Given the description of an element on the screen output the (x, y) to click on. 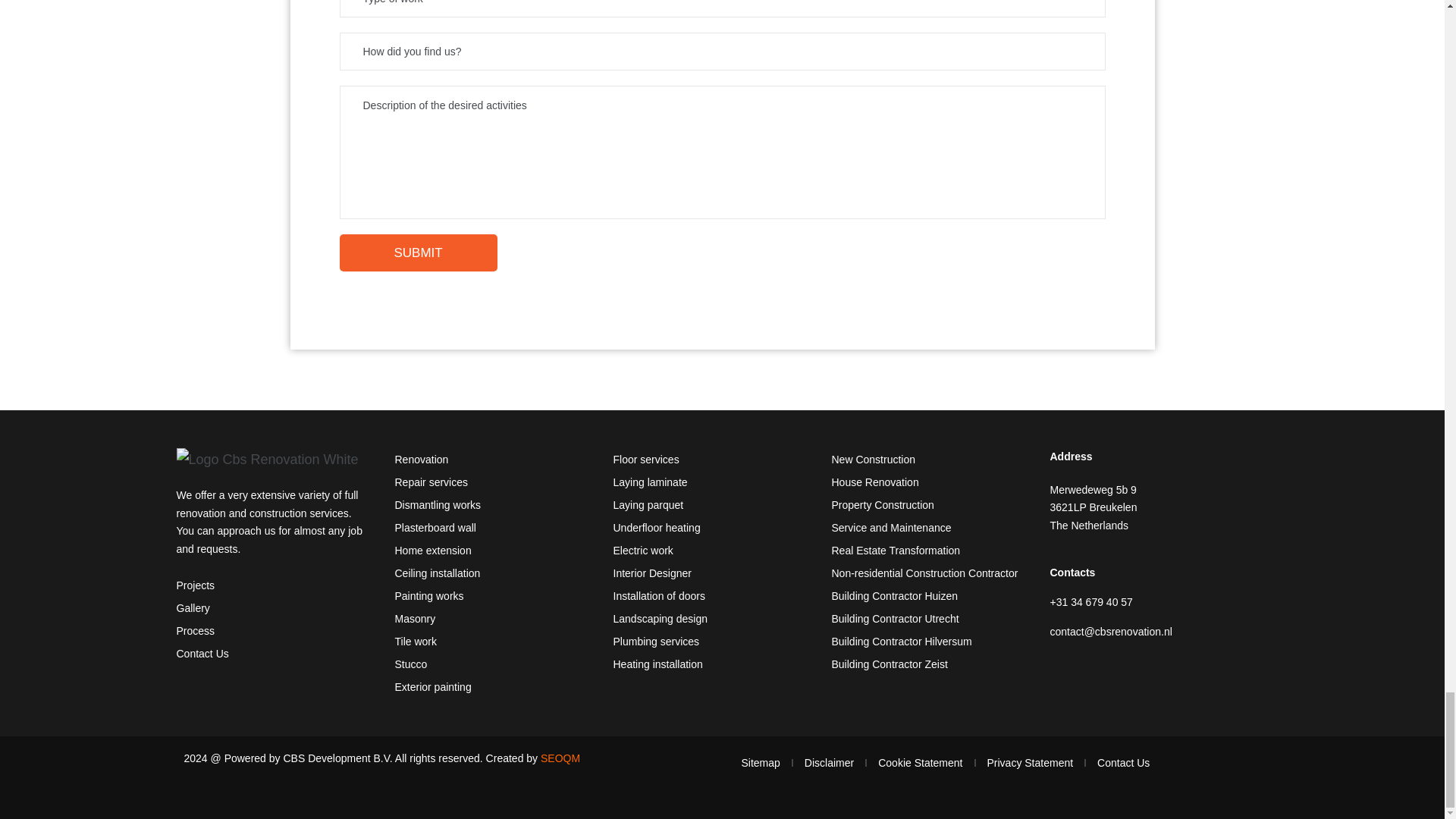
SUBMIT (418, 252)
Logo-CBS-Renovation-white-1 (267, 459)
